Given the description of an element on the screen output the (x, y) to click on. 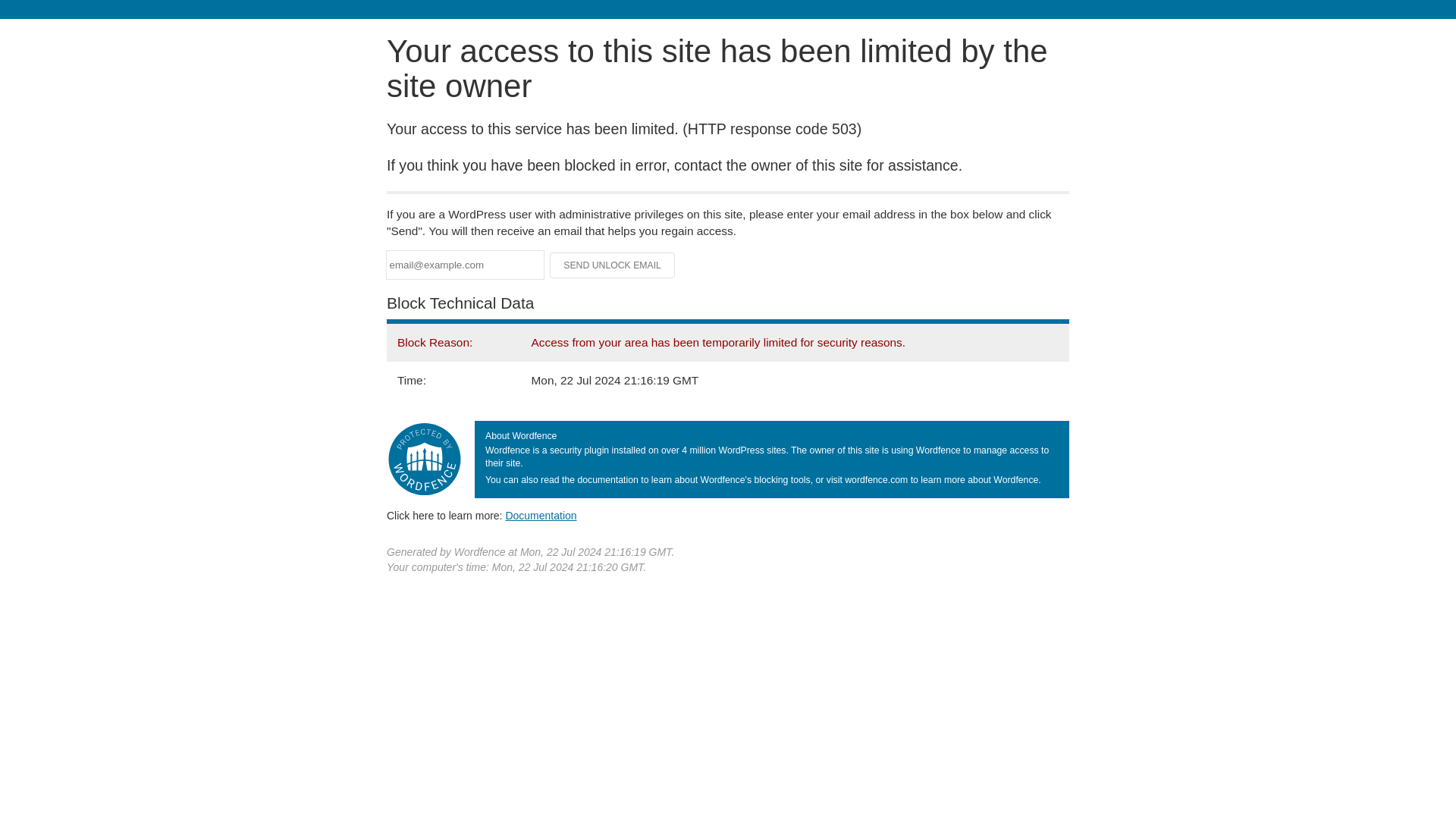
Send Unlock Email (612, 265)
Documentation (540, 515)
Send Unlock Email (612, 265)
